Given the description of an element on the screen output the (x, y) to click on. 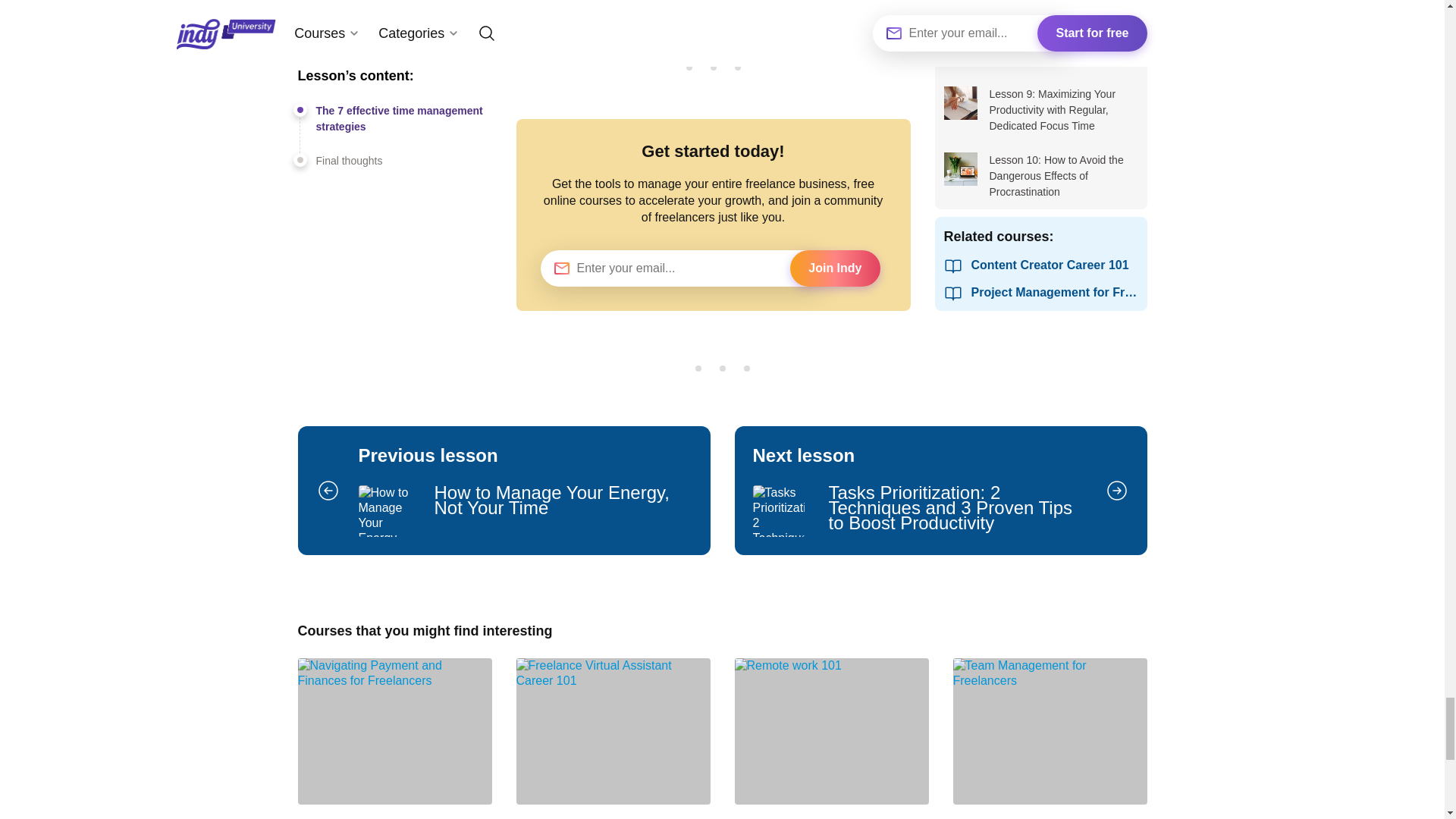
Freelance Virtual Assistant Career 101 (612, 738)
Navigating Payment and Finances for Freelancers (394, 738)
Remote work 101 (830, 738)
Join Indy (834, 268)
Team Management for Freelancers (503, 490)
manage multiple projects at the same time (1049, 738)
